Given the description of an element on the screen output the (x, y) to click on. 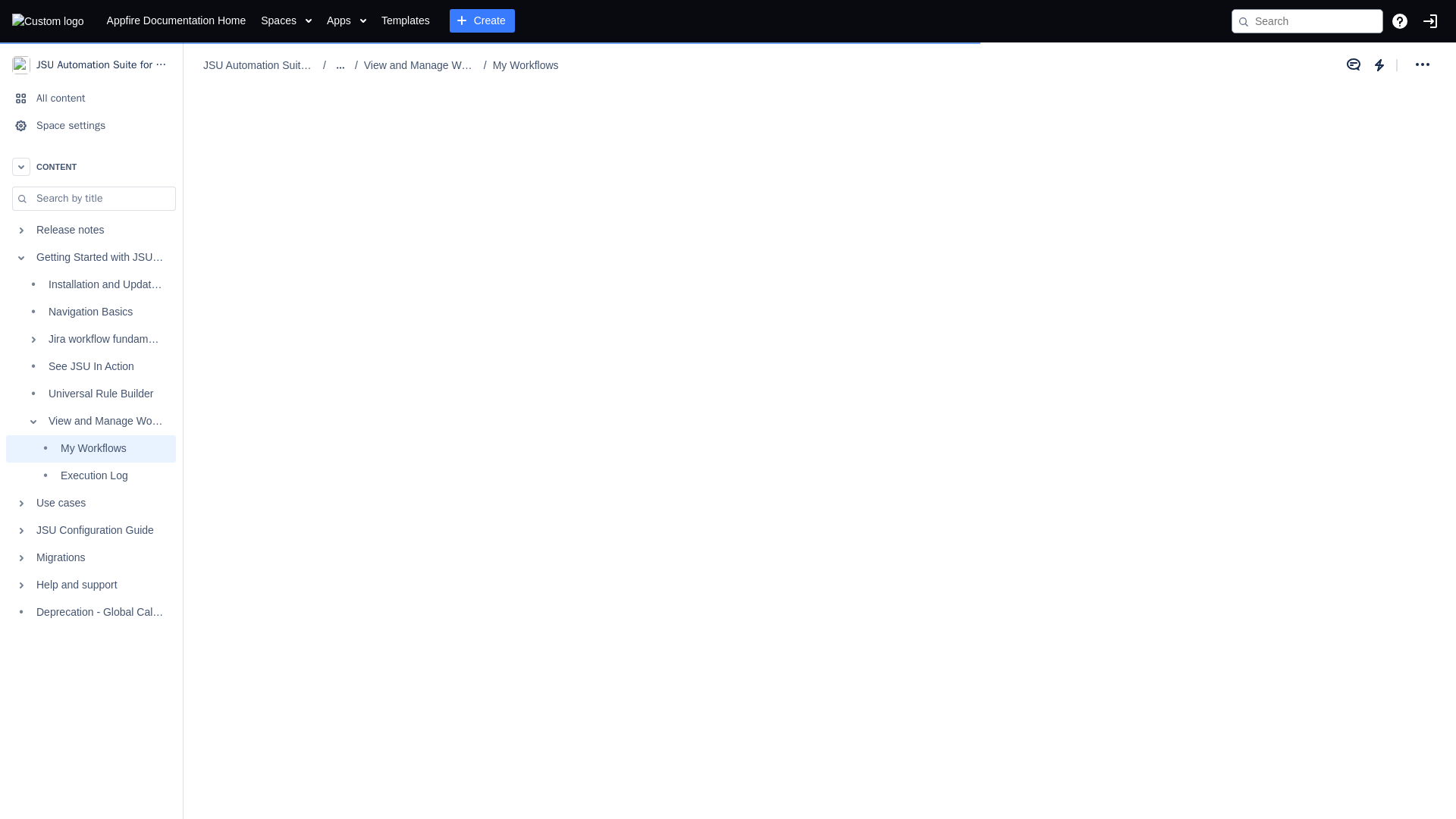
JSU Automation Suite for Jira Workflows - Cloud (90, 64)
Jira workflow fundamentals (90, 338)
JSU Configuration Guide (90, 530)
Appfire Documentation Home (175, 21)
Apps (346, 21)
Spaces (285, 21)
Use cases (90, 502)
View and Manage Workflow Rules (420, 64)
CONTENT (90, 166)
Templates (405, 21)
View and Manage Workflow Rules (90, 420)
All content (90, 98)
Getting Started with JSU for Jira Cloud (90, 257)
Help and support (90, 584)
Create (482, 21)
